Given the description of an element on the screen output the (x, y) to click on. 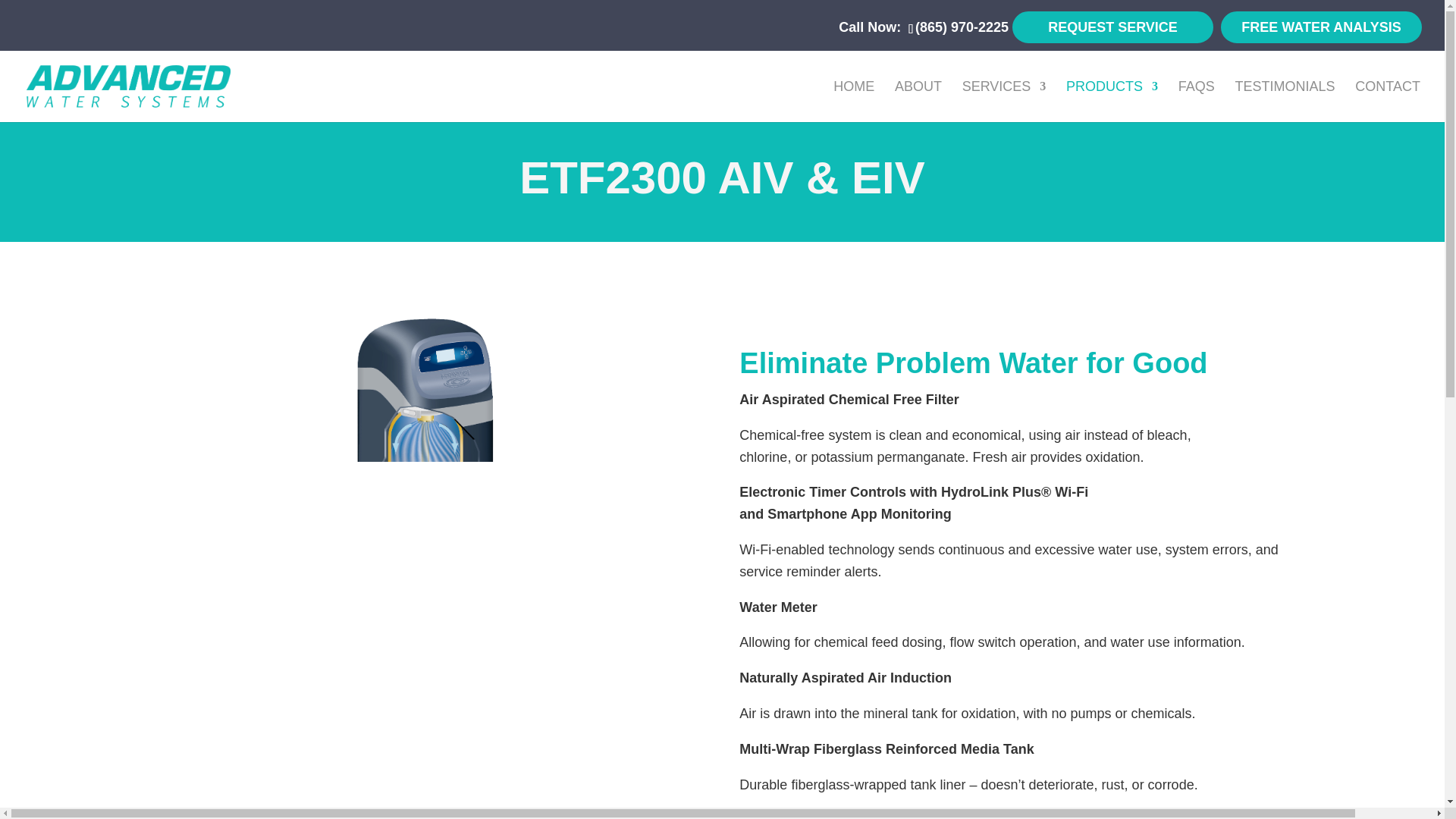
SERVICES (1004, 101)
TESTIMONIALS (1284, 101)
HOME (853, 101)
FREE WATER ANALYSIS (1321, 27)
ABOUT (918, 101)
PRODUCTS (1111, 101)
REQUEST SERVICE (1111, 27)
CONTACT (1388, 101)
